Given the description of an element on the screen output the (x, y) to click on. 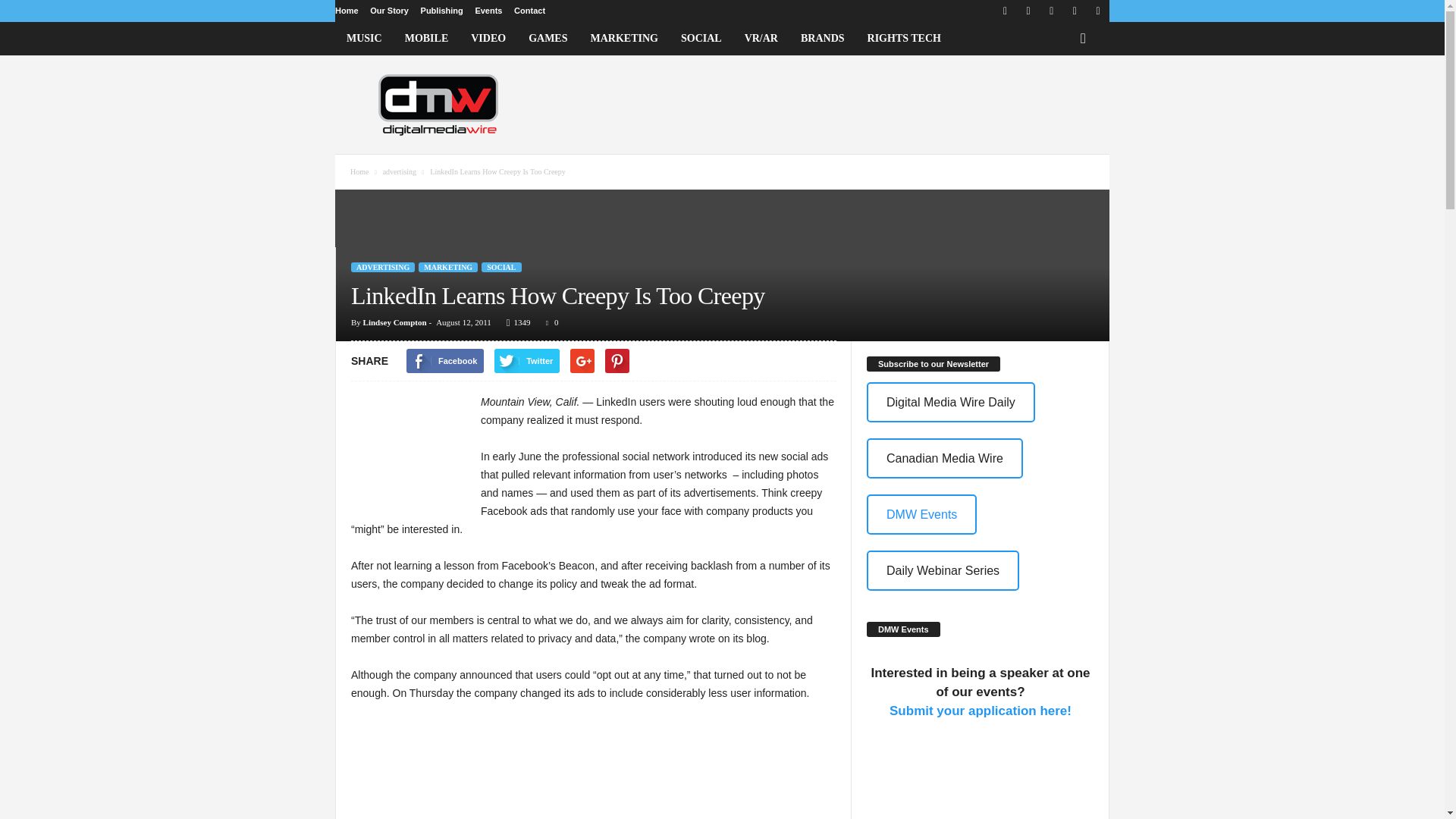
Events (488, 10)
GAMES (547, 38)
MOBILE (426, 38)
BRANDS (822, 38)
RIGHTS TECH (904, 38)
Publishing (441, 10)
VIDEO (488, 38)
Digital Media Wire (437, 104)
MARKETING (624, 38)
MUSIC (363, 38)
Home (346, 10)
View all posts in advertising (400, 171)
Our Story (389, 10)
SOCIAL (701, 38)
Contact (528, 10)
